Given the description of an element on the screen output the (x, y) to click on. 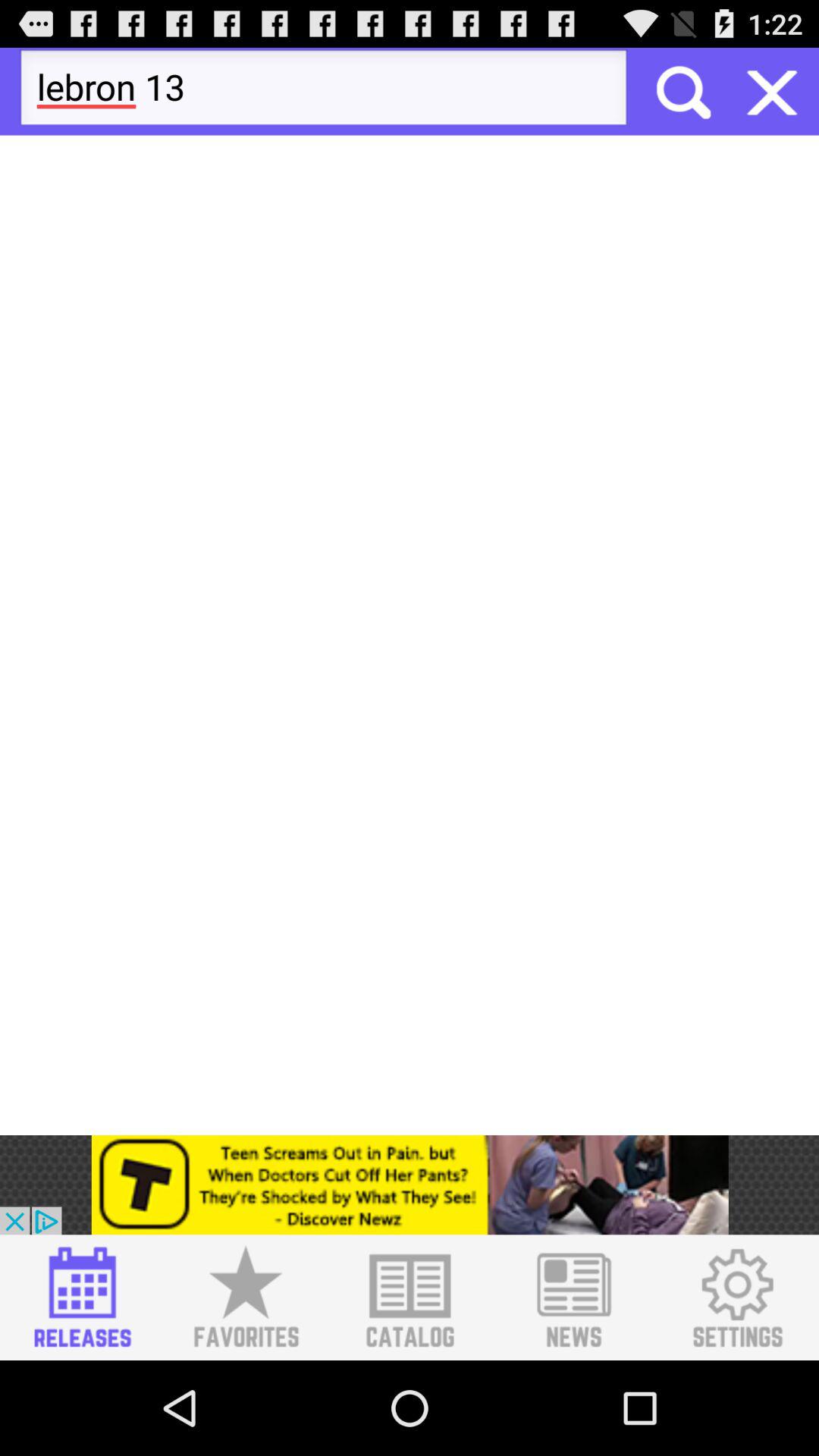
go to advertisement (409, 1184)
